Given the description of an element on the screen output the (x, y) to click on. 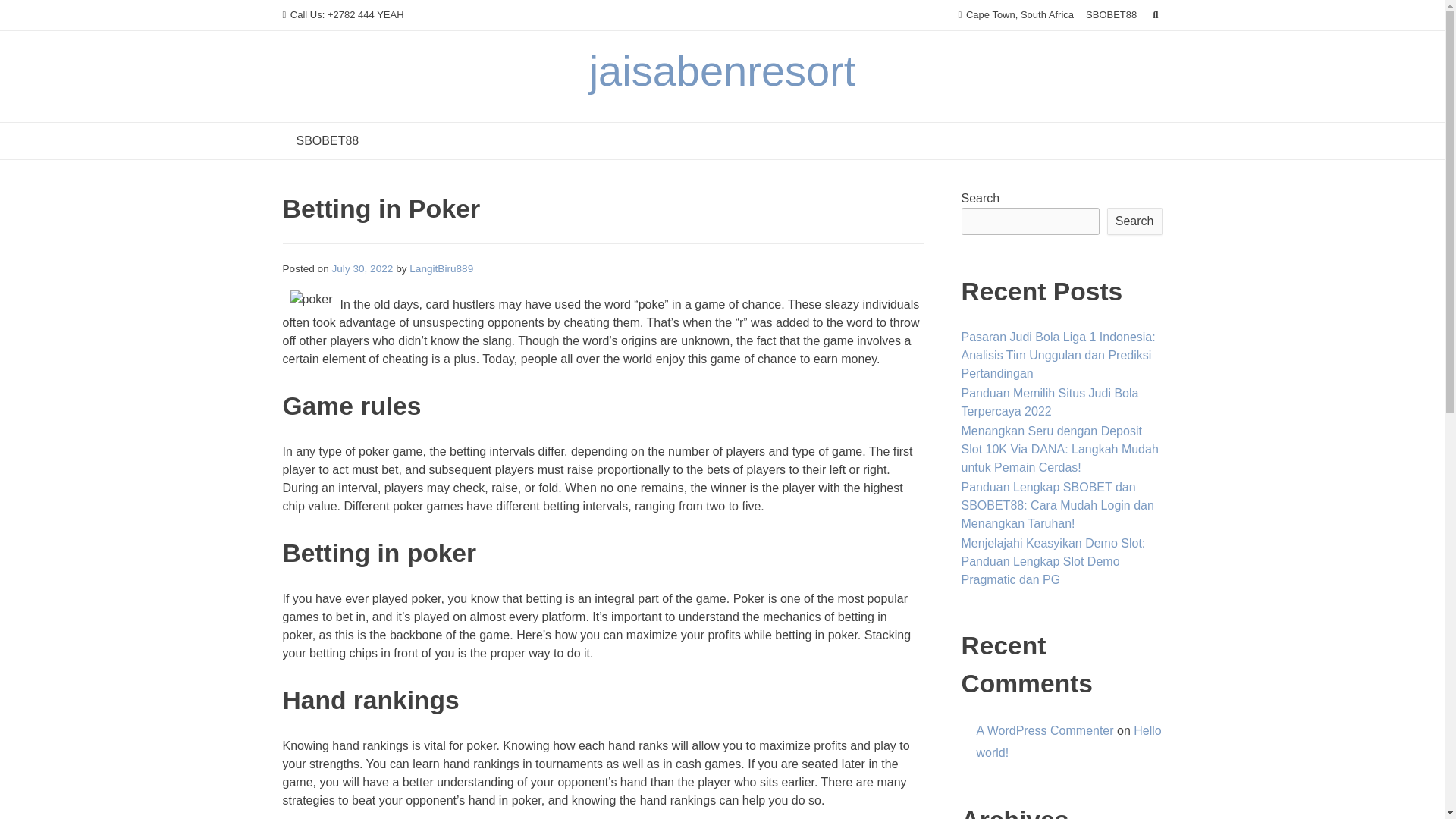
LangitBiru889 (441, 268)
jaisabenresort (722, 70)
SBOBET88 (327, 140)
Panduan Memilih Situs Judi Bola Terpercaya 2022 (1049, 401)
Search (27, 13)
July 30, 2022 (362, 268)
A WordPress Commenter (1044, 730)
